Given the description of an element on the screen output the (x, y) to click on. 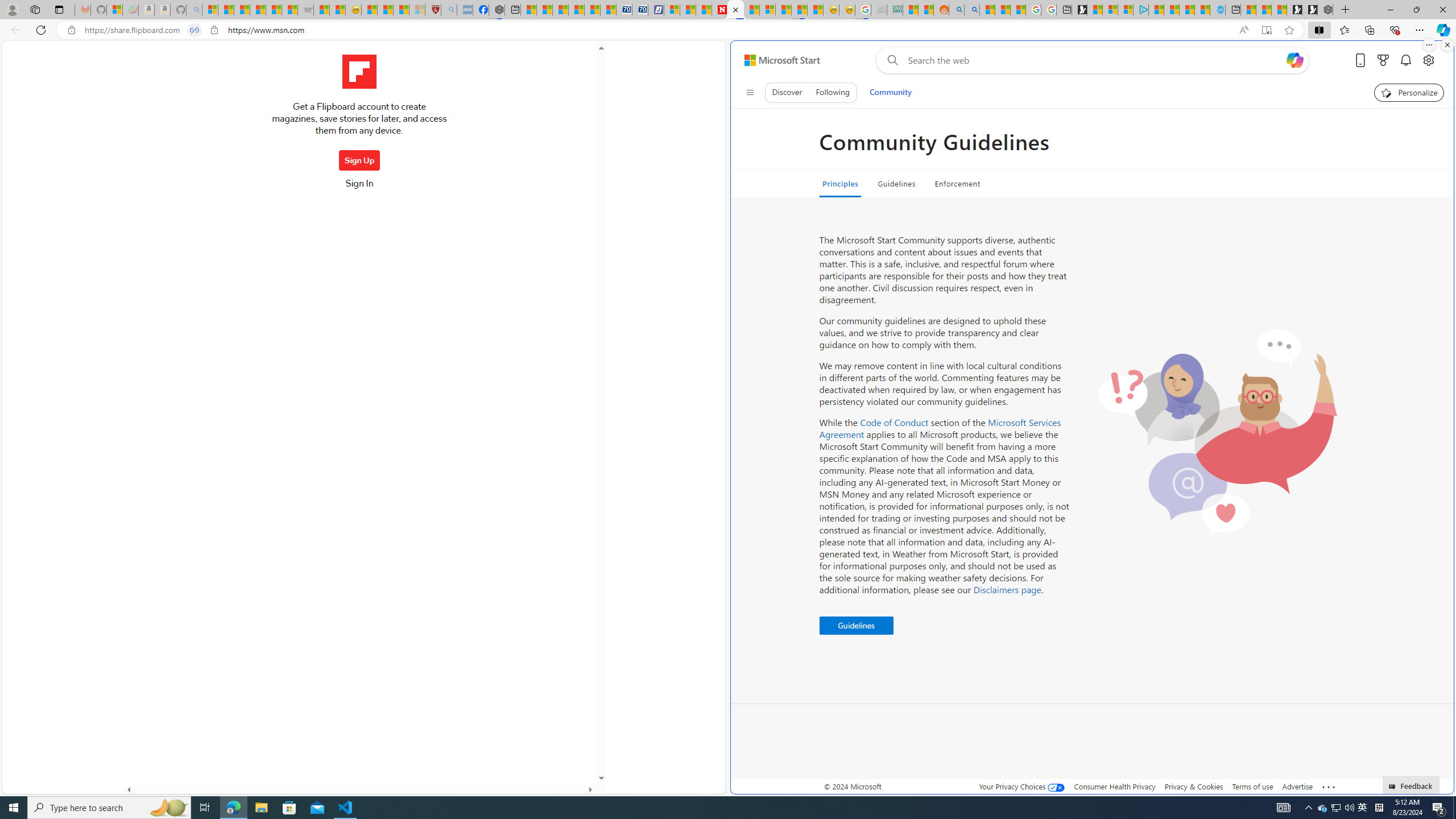
Class: feedback_link_icon-DS-EntryPoint1-1 (1393, 786)
Personalize your feed" (1409, 92)
12 Popular Science Lies that Must be Corrected - Sleeping (416, 9)
Principles (839, 183)
